Given the description of an element on the screen output the (x, y) to click on. 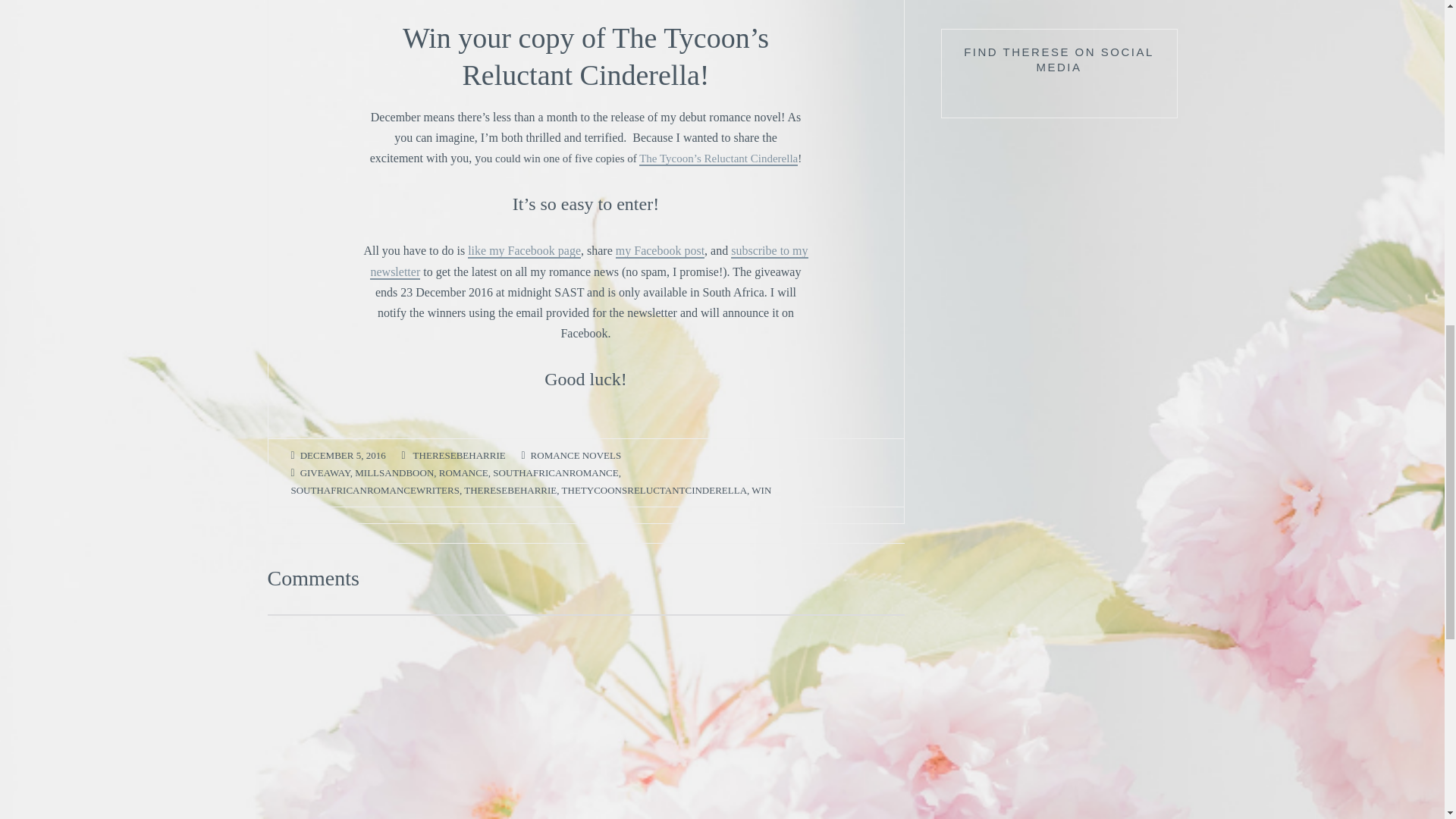
SOUTHAFRICANROMANCEWRITERS (375, 490)
ROMANCE (463, 472)
DECEMBER 5, 2016 (342, 455)
WIN (761, 490)
THERESEBEHARRIE (459, 455)
THERESEBEHARRIE (510, 490)
THETYCOONSRELUCTANTCINDERELLA (655, 490)
ROMANCE NOVELS (576, 455)
Comment Form (585, 716)
GIVEAWAY (324, 472)
